Given the description of an element on the screen output the (x, y) to click on. 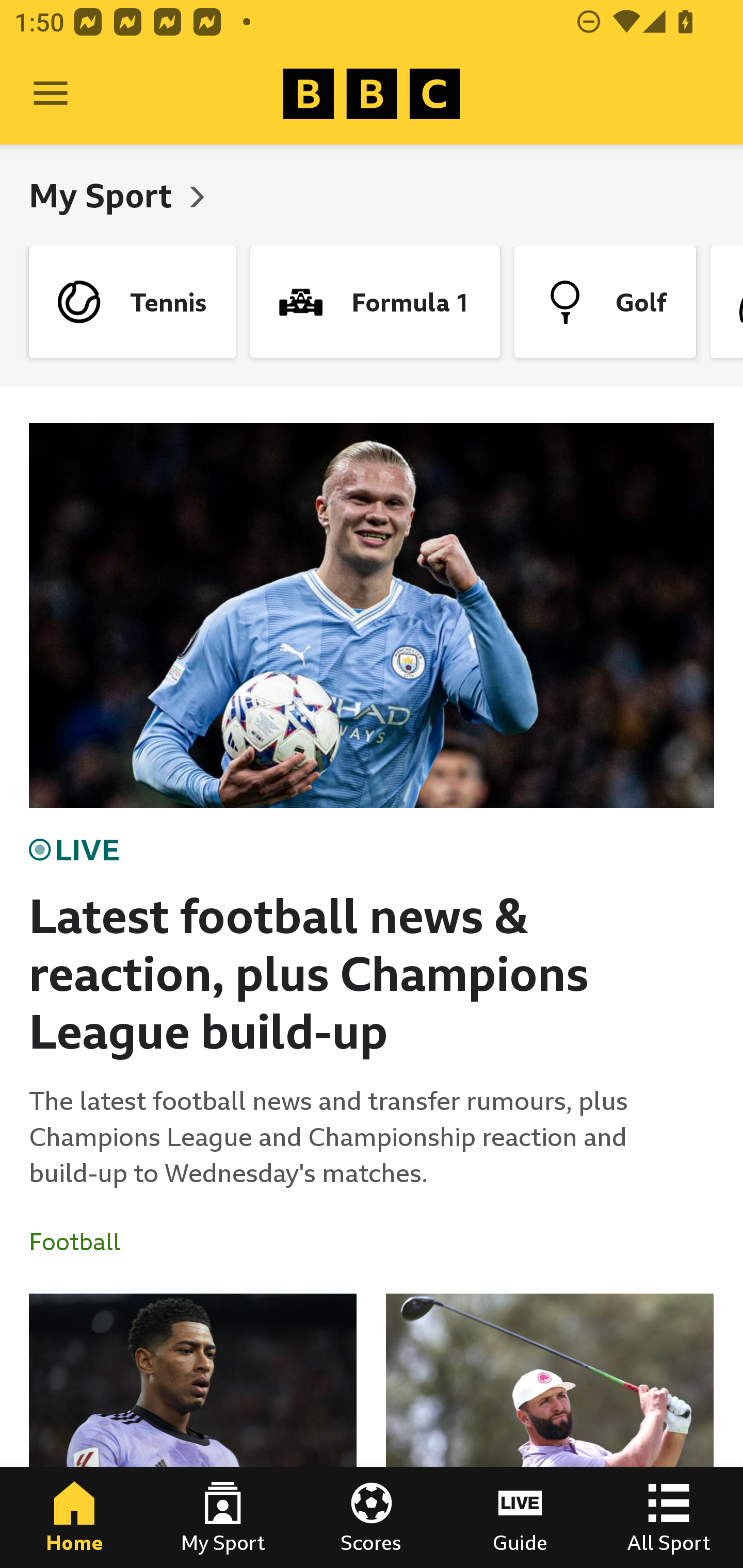
Open Menu (50, 93)
My Sport (104, 195)
Football In the section Football (81, 1241)
Real midfielder Bellingham banned for two games (192, 1430)
My Sport (222, 1517)
Scores (371, 1517)
Guide (519, 1517)
All Sport (668, 1517)
